Given the description of an element on the screen output the (x, y) to click on. 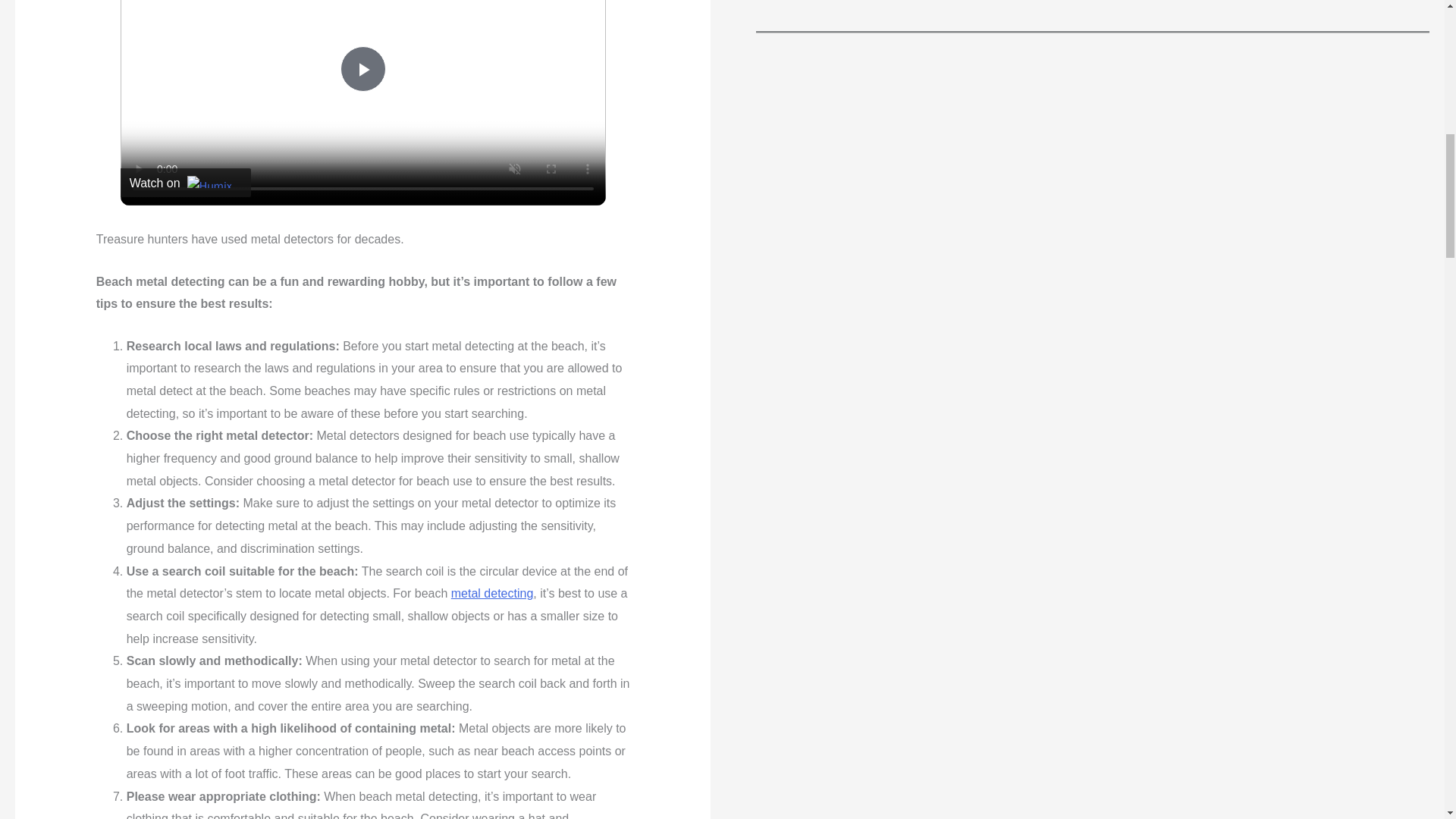
Play Video (362, 68)
Play Video (362, 68)
Watch on (185, 182)
metal detecting (492, 593)
Metal Detecting Underwater (492, 593)
